Given the description of an element on the screen output the (x, y) to click on. 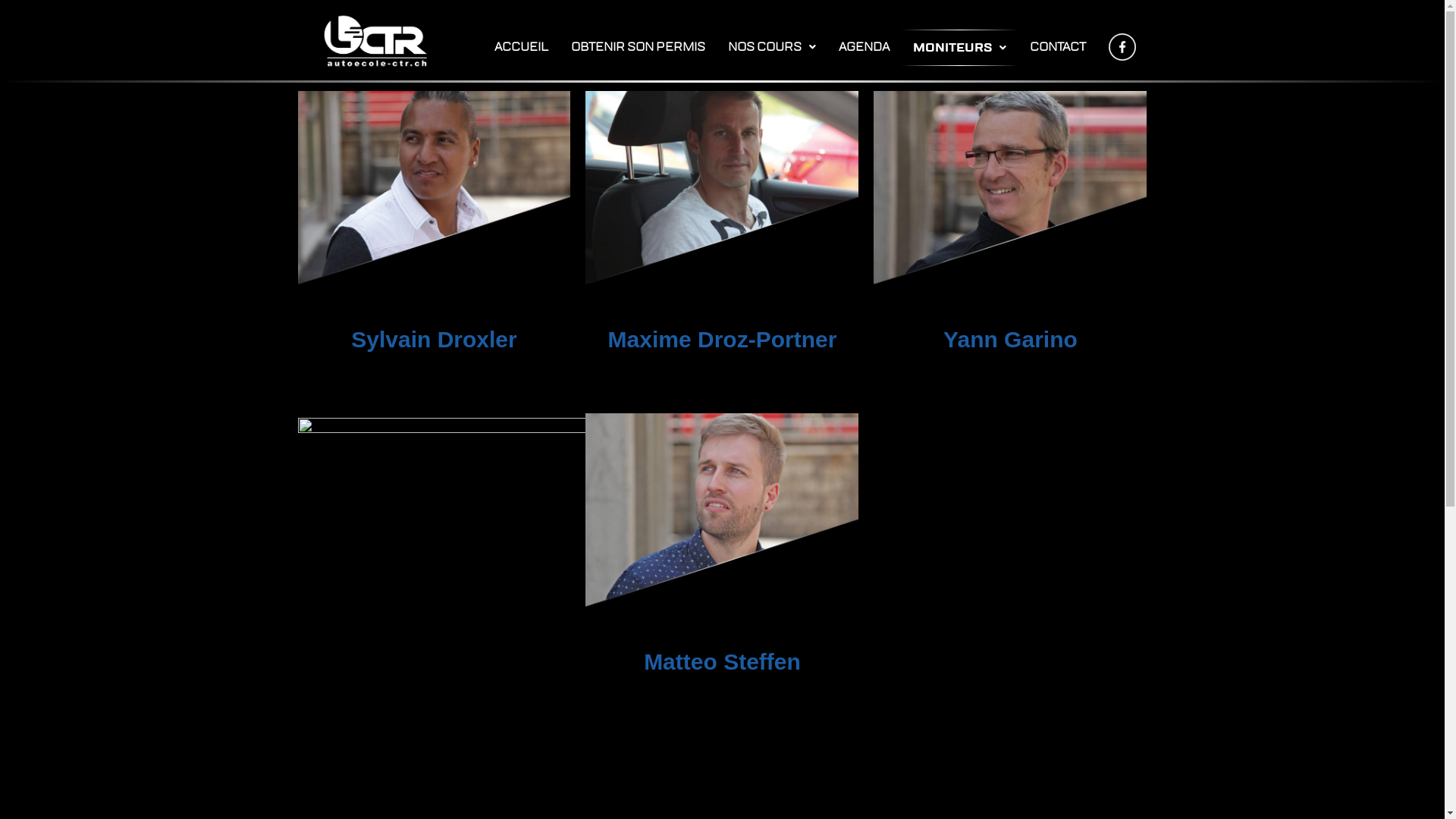
CONTACT Element type: text (1056, 46)
Maxime Droz-Portner Element type: text (722, 339)
OBTENIR SON PERMIS Element type: text (637, 46)
Sylvain Droxler Element type: text (433, 339)
Matteo Steffen Element type: text (722, 661)
NOS COURS Element type: text (770, 46)
AGENDA Element type: text (863, 46)
Yann Garino Element type: text (1010, 339)
MONITEURS Element type: text (959, 47)
ACCUEIL Element type: text (520, 46)
